Given the description of an element on the screen output the (x, y) to click on. 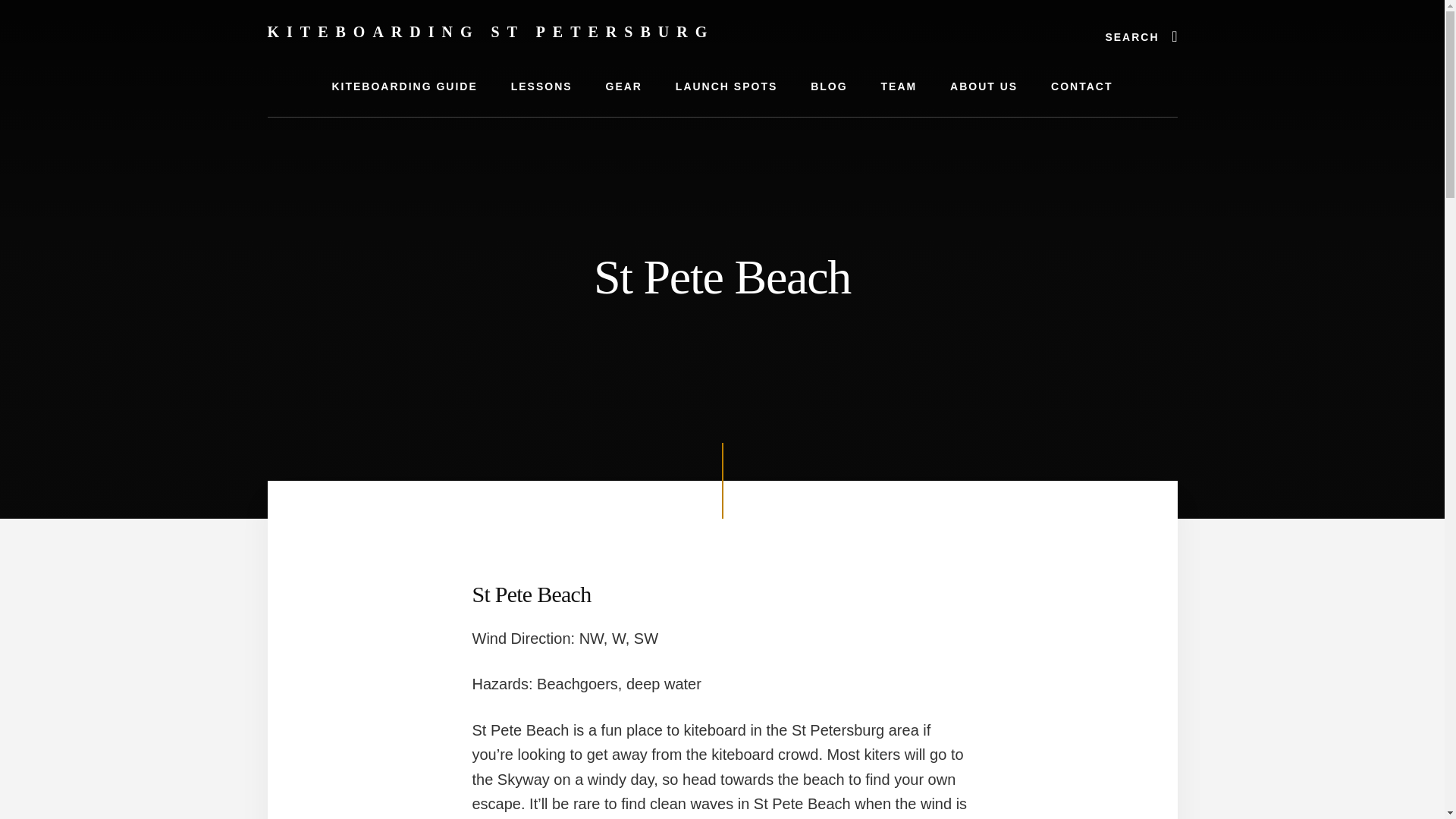
ABOUT US (983, 86)
TEAM (899, 86)
KITEBOARDING GUIDE (403, 86)
GEAR (622, 86)
KITEBOARDING ST PETERSBURG (490, 31)
CONTACT (1080, 86)
BLOG (827, 86)
LAUNCH SPOTS (726, 86)
LESSONS (542, 86)
